Given the description of an element on the screen output the (x, y) to click on. 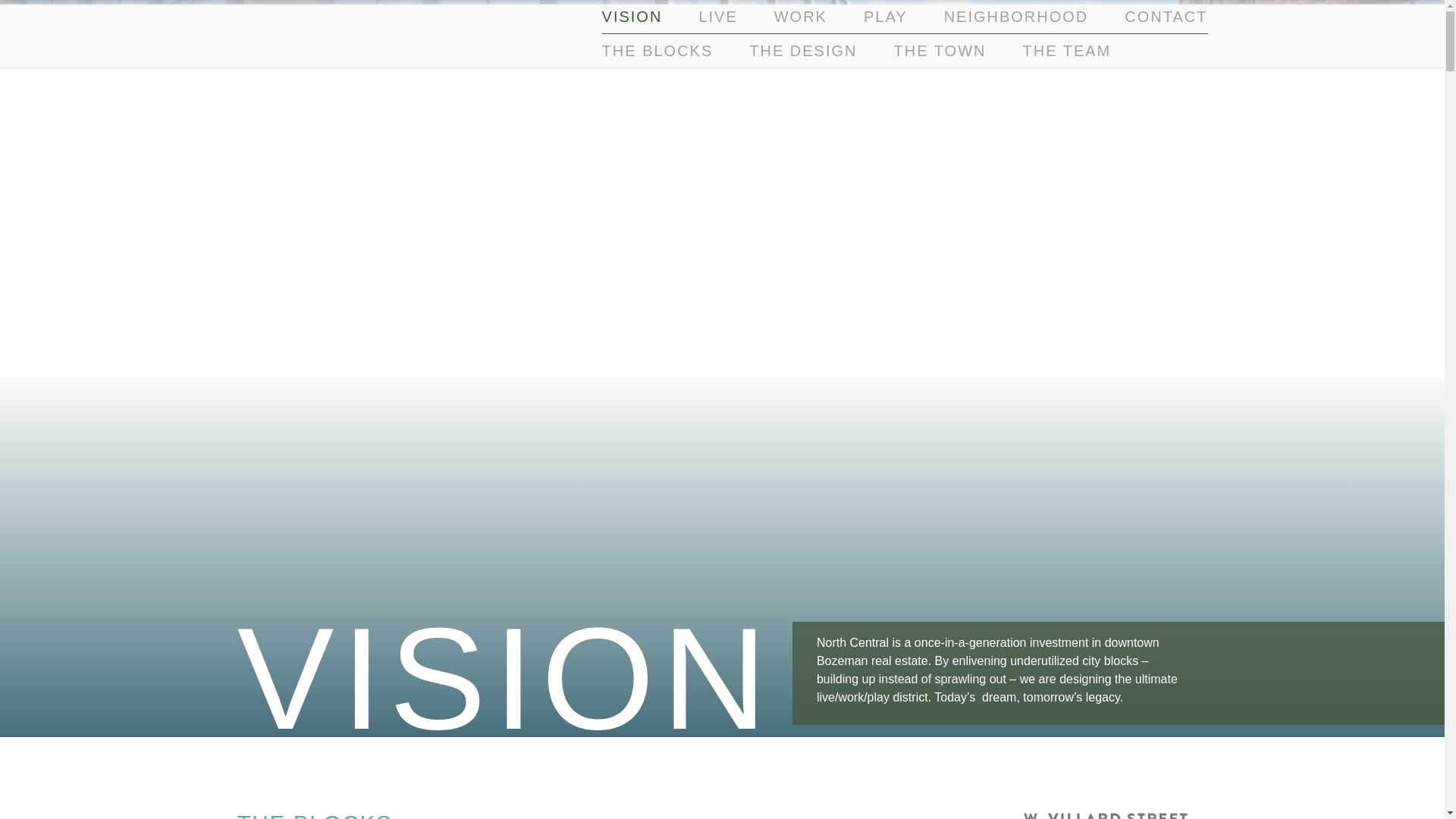
VISION (632, 16)
PLAY (885, 16)
LIVE (717, 16)
THE TOWN (940, 50)
THE TEAM (1066, 50)
THE BLOCKS (657, 50)
THE DESIGN (803, 50)
WORK (800, 16)
CONTACT (1165, 16)
NEIGHBORHOOD (1016, 16)
